Given the description of an element on the screen output the (x, y) to click on. 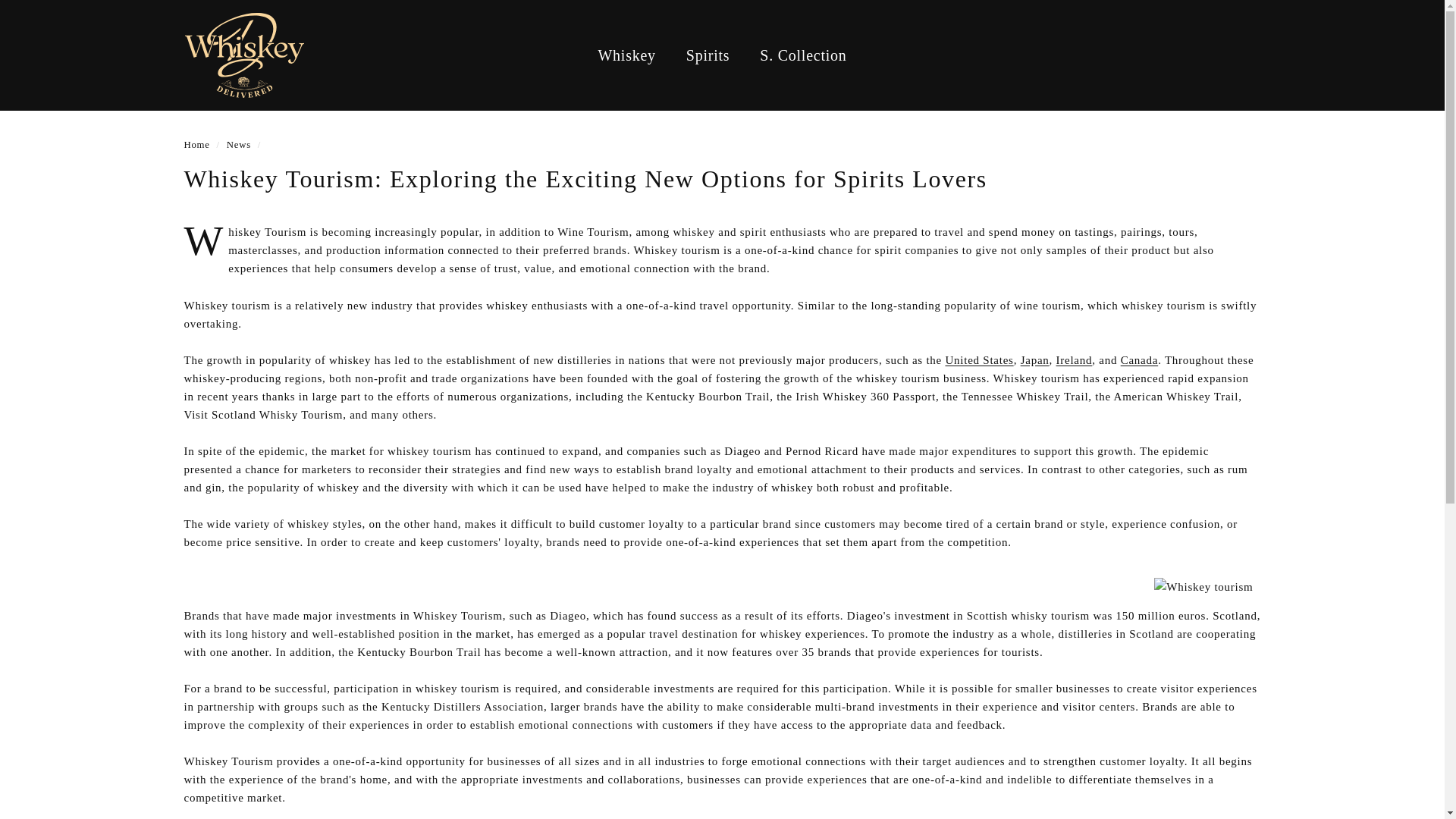
Back to the frontpage (196, 144)
Buy the best American Whiskey online (978, 359)
Shop for Canadian Whisky Online today (1139, 359)
Buy Irish Whiskey Online today (1075, 359)
Top Japanese whisky avalaible online (1034, 359)
